Given the description of an element on the screen output the (x, y) to click on. 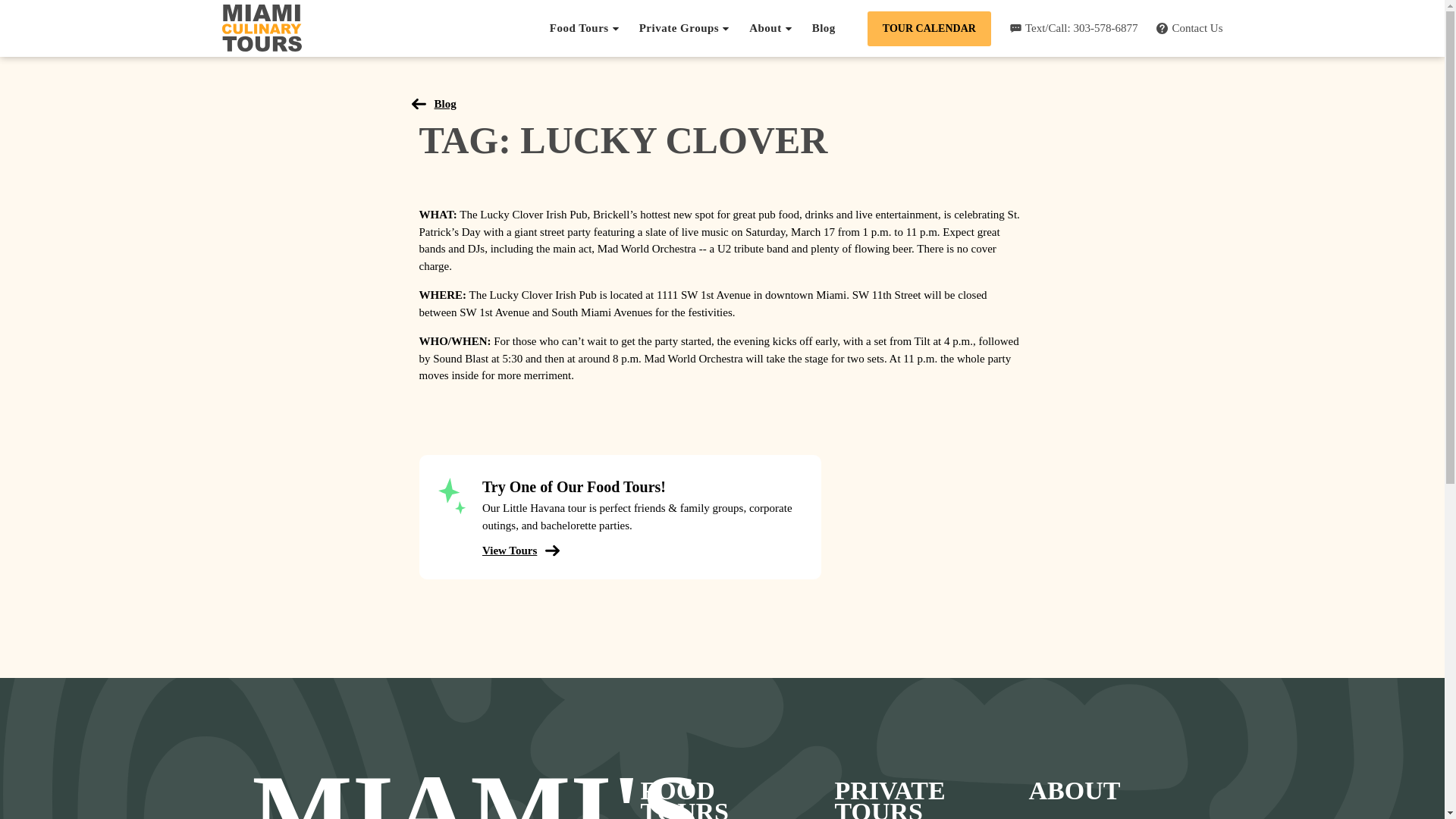
Blog (437, 103)
View Tours (516, 550)
TOUR CALENDAR (929, 27)
Waiver (1051, 817)
Contact Us (1189, 28)
Food Tours (585, 28)
Private Groups (684, 28)
